Given the description of an element on the screen output the (x, y) to click on. 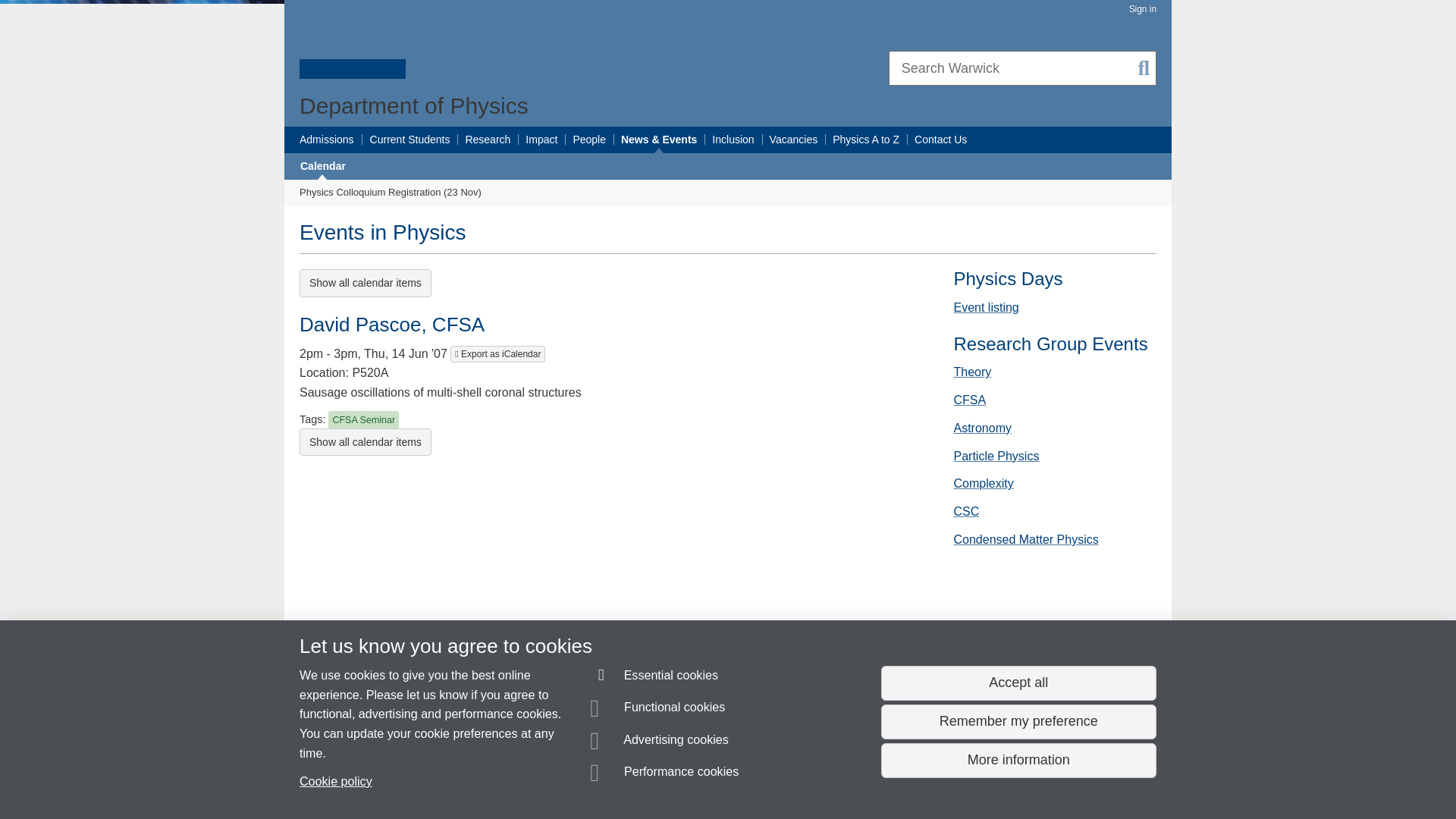
People (588, 139)
Show all news from this tag (363, 419)
Current Students (409, 139)
More information about SiteBuilder (370, 780)
Accept all functional, advertising and performance cookies (1018, 683)
Copyright Statement (519, 780)
Send an email to Katherine Branch (391, 751)
University of Warwick homepage (352, 48)
Terms of use (714, 780)
Research (487, 139)
Information about cookies (473, 780)
Impact (541, 139)
